Given the description of an element on the screen output the (x, y) to click on. 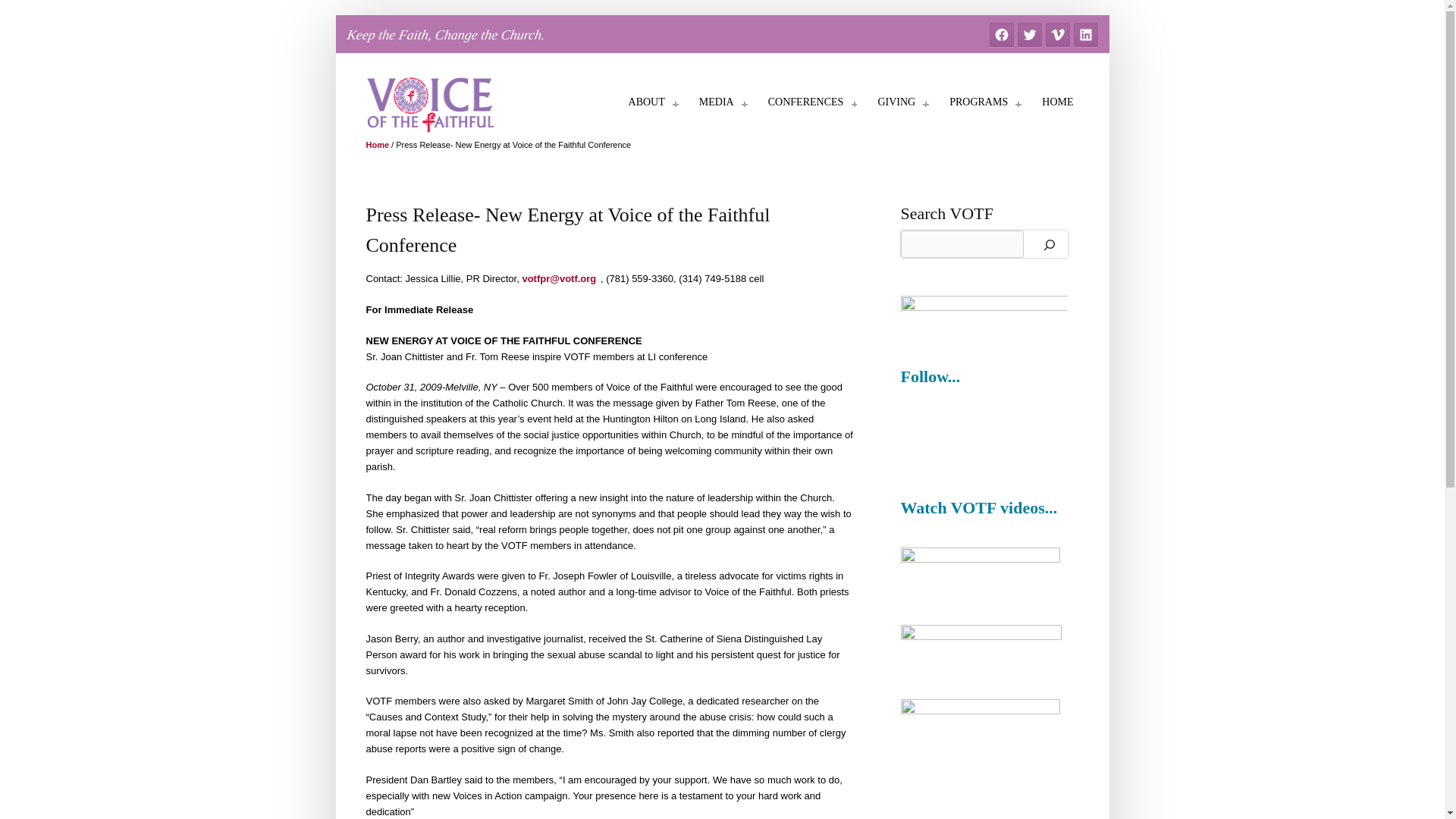
Twitter (1029, 34)
Facebook (1000, 34)
LinkedIn (1085, 34)
CONFERENCES (805, 104)
Vimeo (1056, 34)
